Given the description of an element on the screen output the (x, y) to click on. 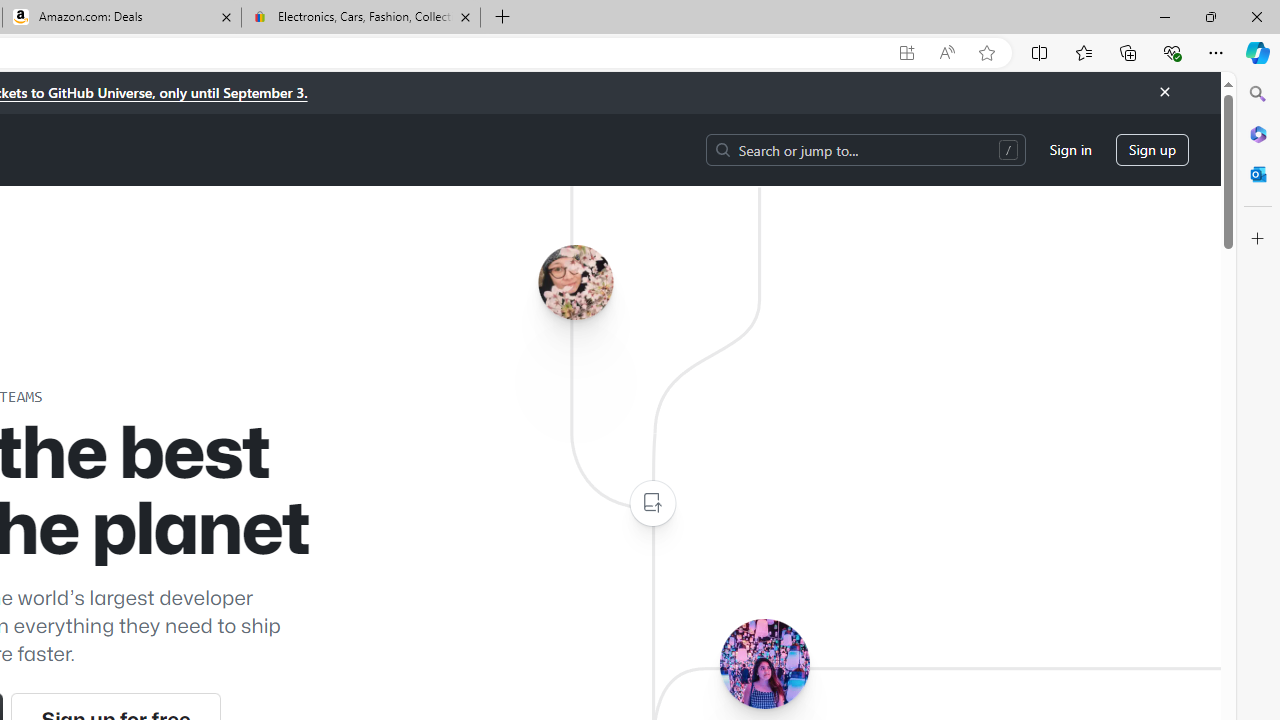
Sign in (1070, 149)
Class: color-fg-muted width-full (652, 503)
Sign up (1152, 149)
